Given the description of an element on the screen output the (x, y) to click on. 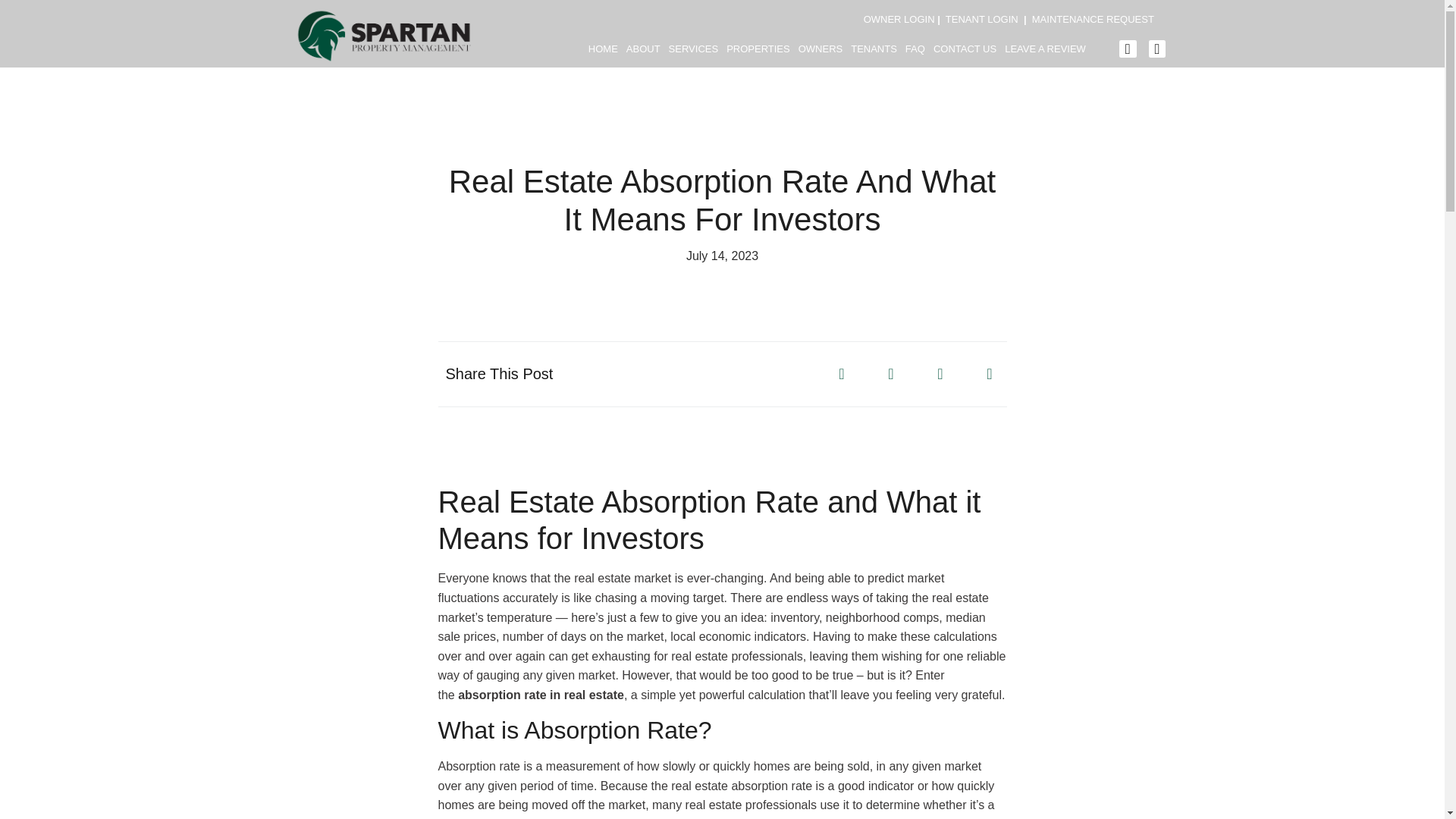
MAINTENANCE REQUEST  (1094, 19)
TENANTS (874, 48)
PROPERTIES (757, 48)
SERVICES (693, 48)
TENANT LOGIN (980, 19)
LEAVE A REVIEW (1045, 48)
OWNERS (820, 48)
OWNER LOGIN (898, 19)
HOME (603, 48)
ABOUT (643, 48)
CONTACT US (965, 48)
